Given the description of an element on the screen output the (x, y) to click on. 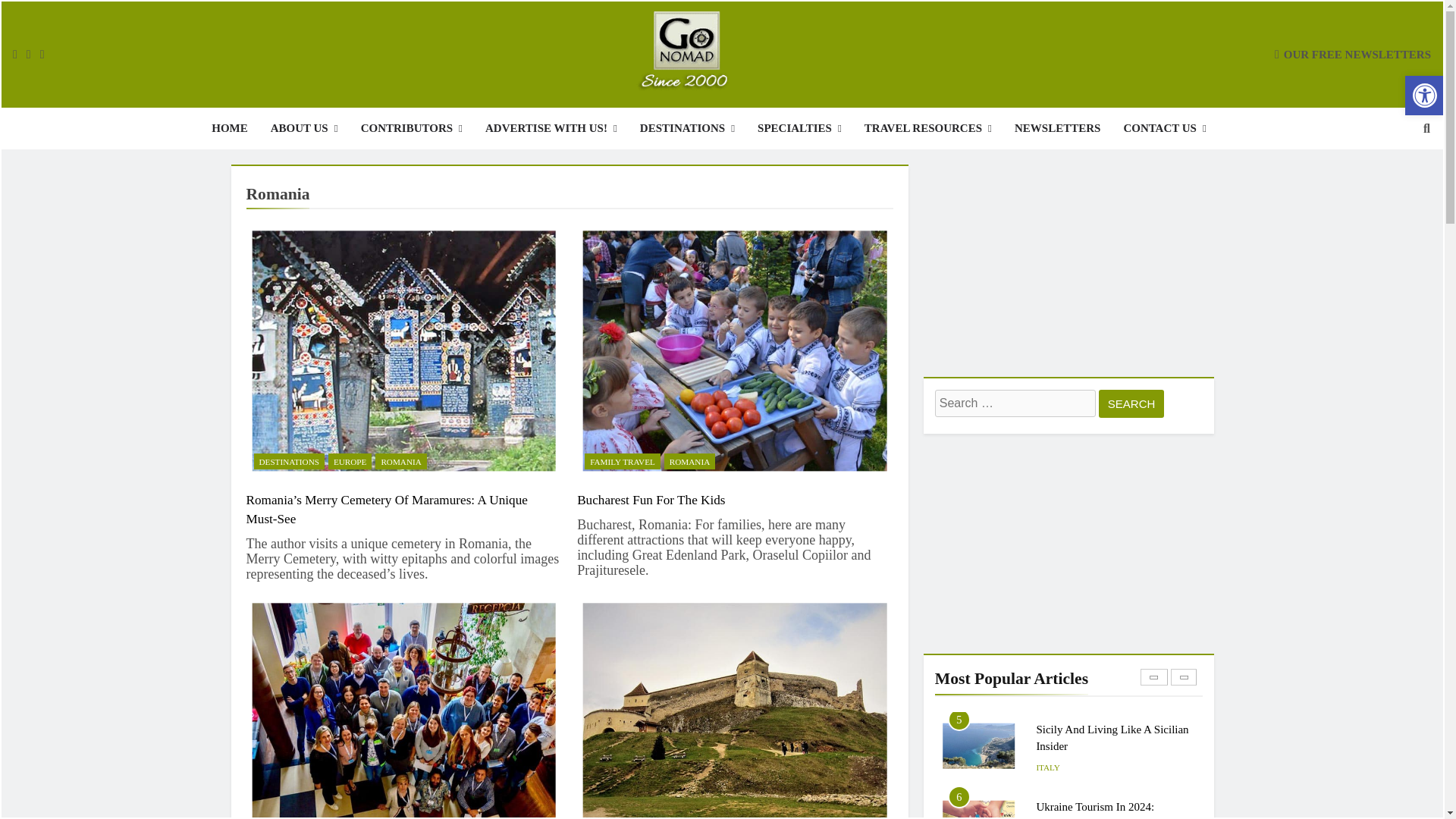
ADVERTISE WITH US! (551, 128)
CONTRIBUTORS (411, 128)
Angloville: A New Opportunity For Native English Speakers (404, 708)
OUR FREE NEWSLETTERS (1353, 52)
GoNOMAD Travel (437, 119)
Search (1131, 403)
HOME (229, 127)
Romania: Brasov: Near What You Want to See (734, 708)
Accessibility Tools (1424, 95)
ABOUT US (304, 128)
Search (1131, 403)
Bucharest Fun for the Kids (734, 350)
Bucharest Fun for the Kids (650, 499)
